Given the description of an element on the screen output the (x, y) to click on. 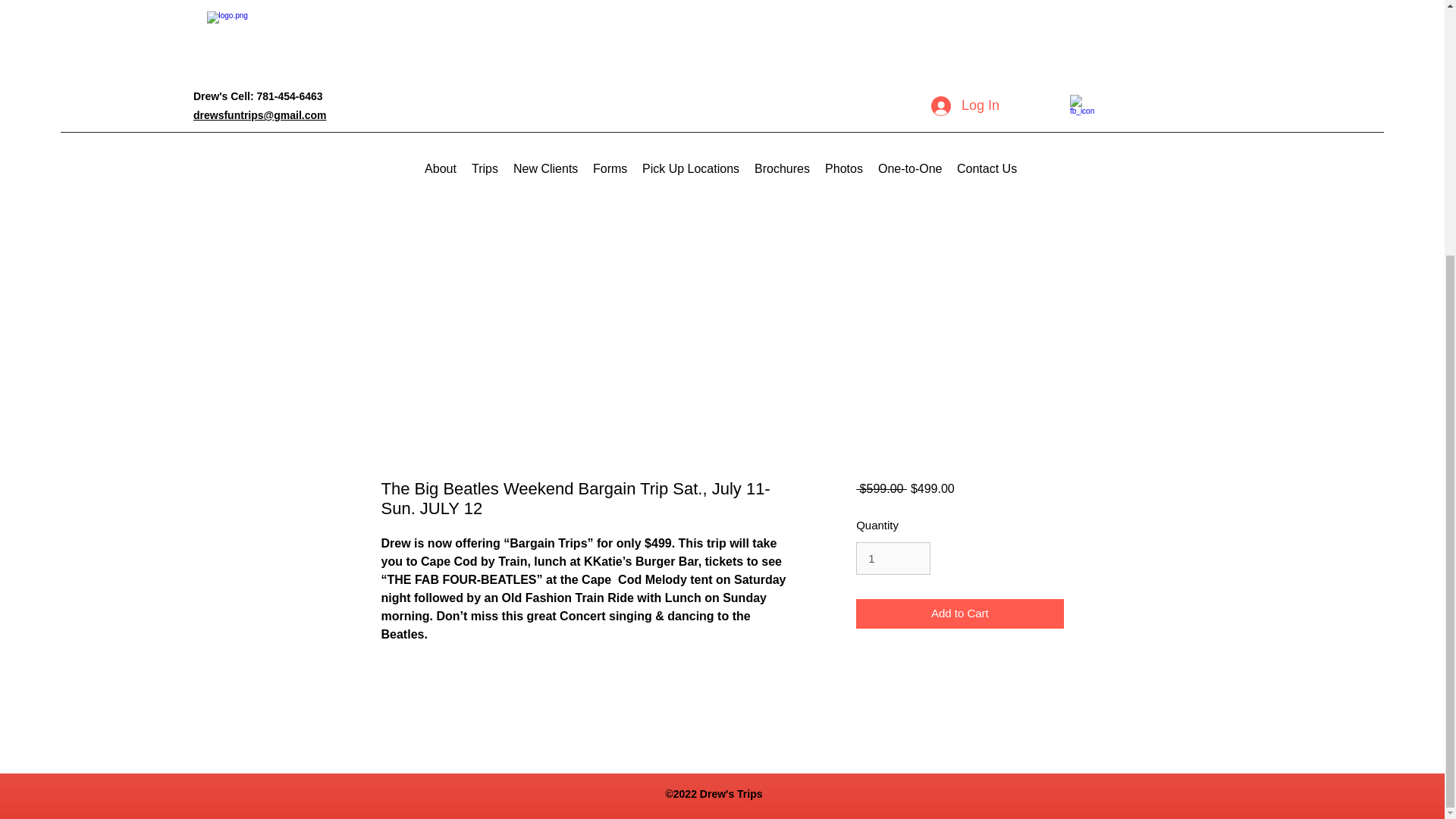
1 (893, 558)
Add to Cart (959, 613)
